Given the description of an element on the screen output the (x, y) to click on. 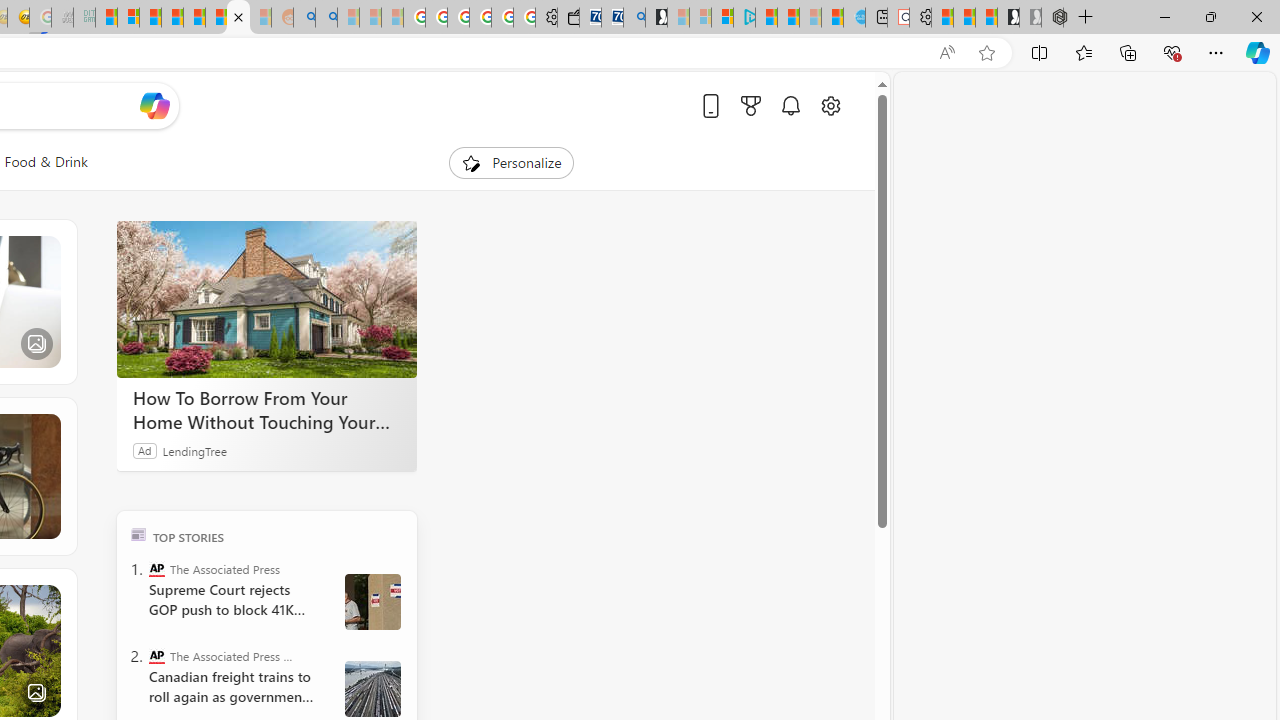
 Canada Railroads Unions (372, 688)
See more (46, 598)
Microsoft Start Gaming (656, 17)
